Given the description of an element on the screen output the (x, y) to click on. 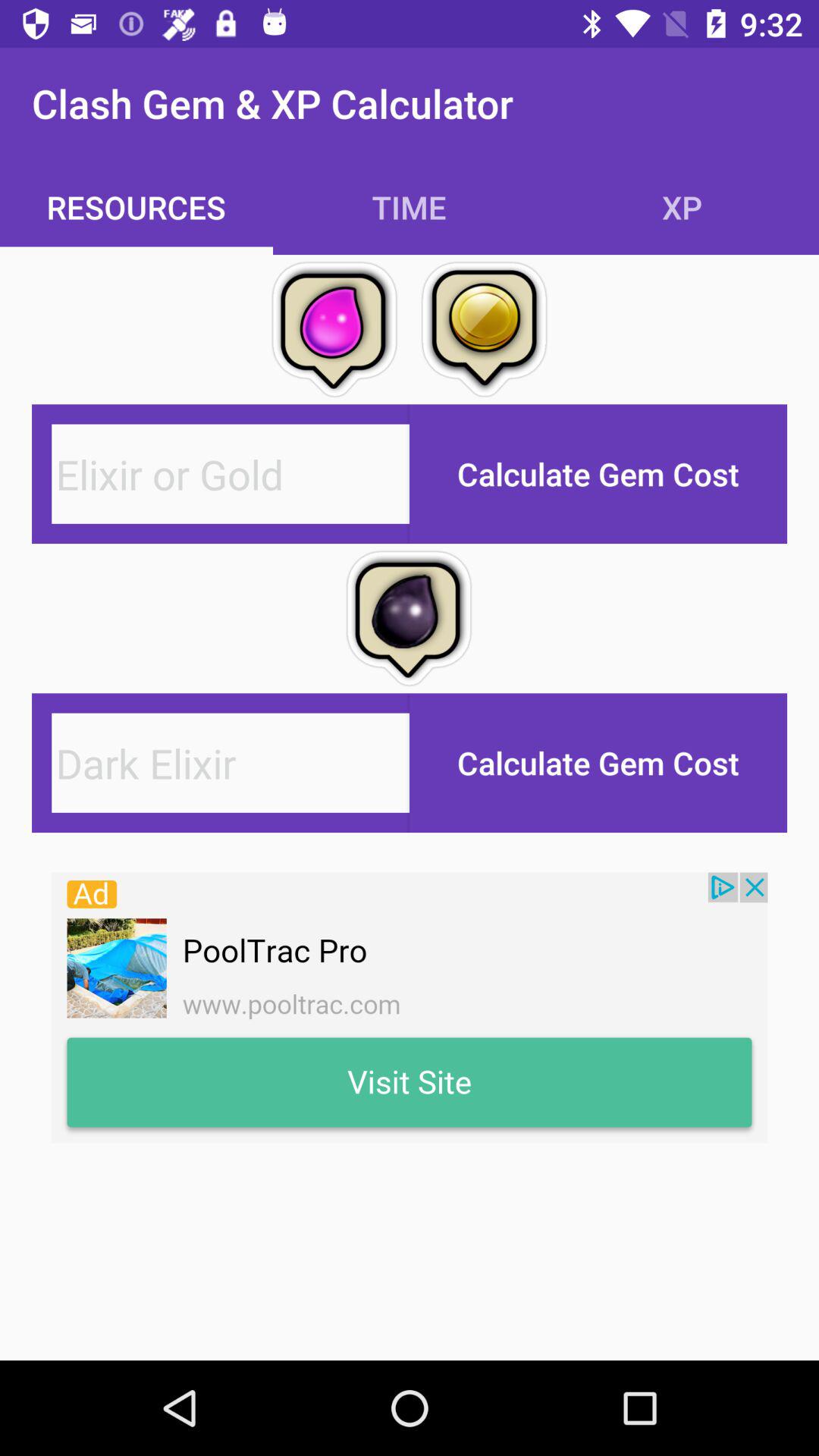
new pega (230, 762)
